Given the description of an element on the screen output the (x, y) to click on. 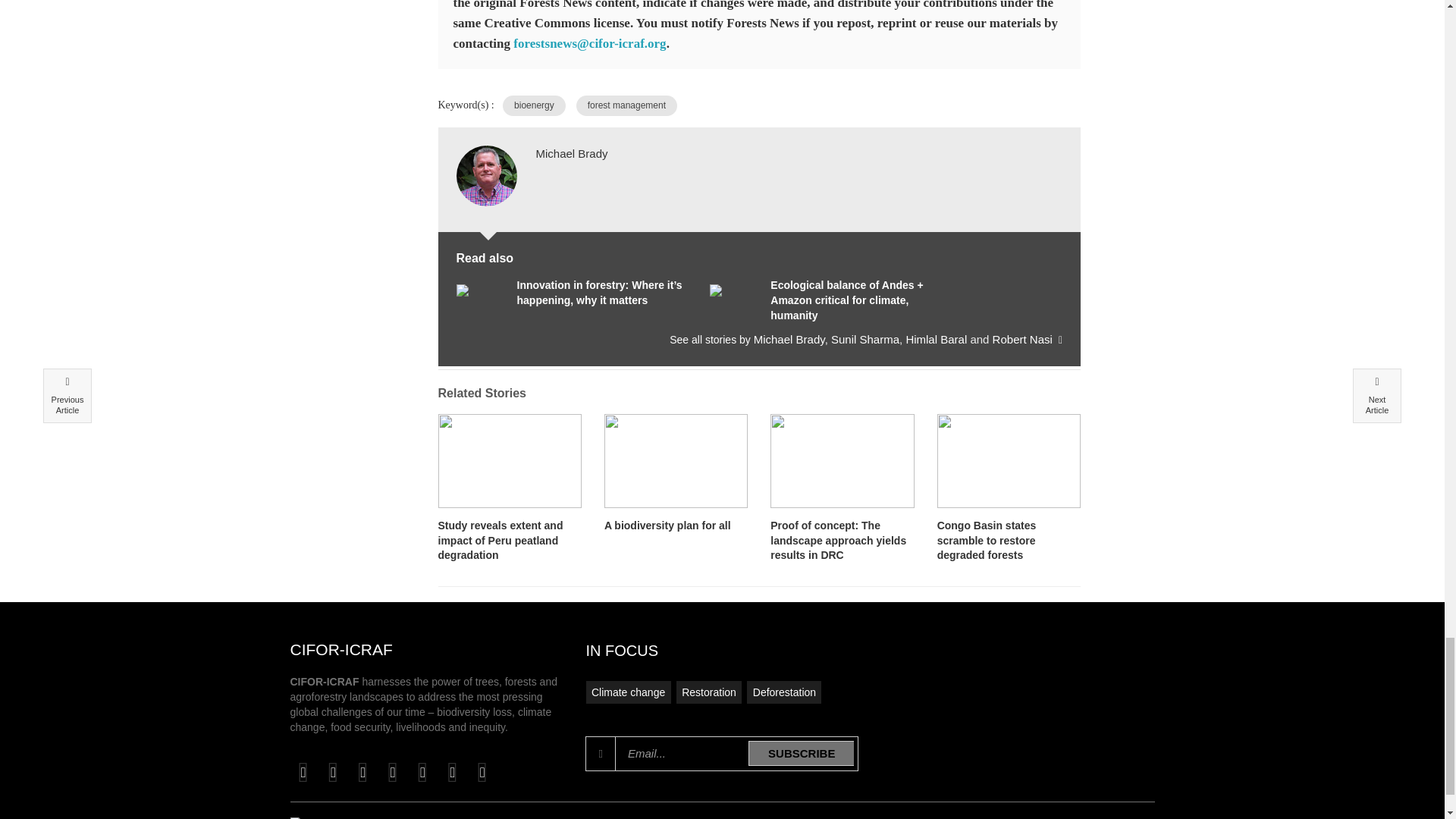
Subscribe (800, 753)
